Given the description of an element on the screen output the (x, y) to click on. 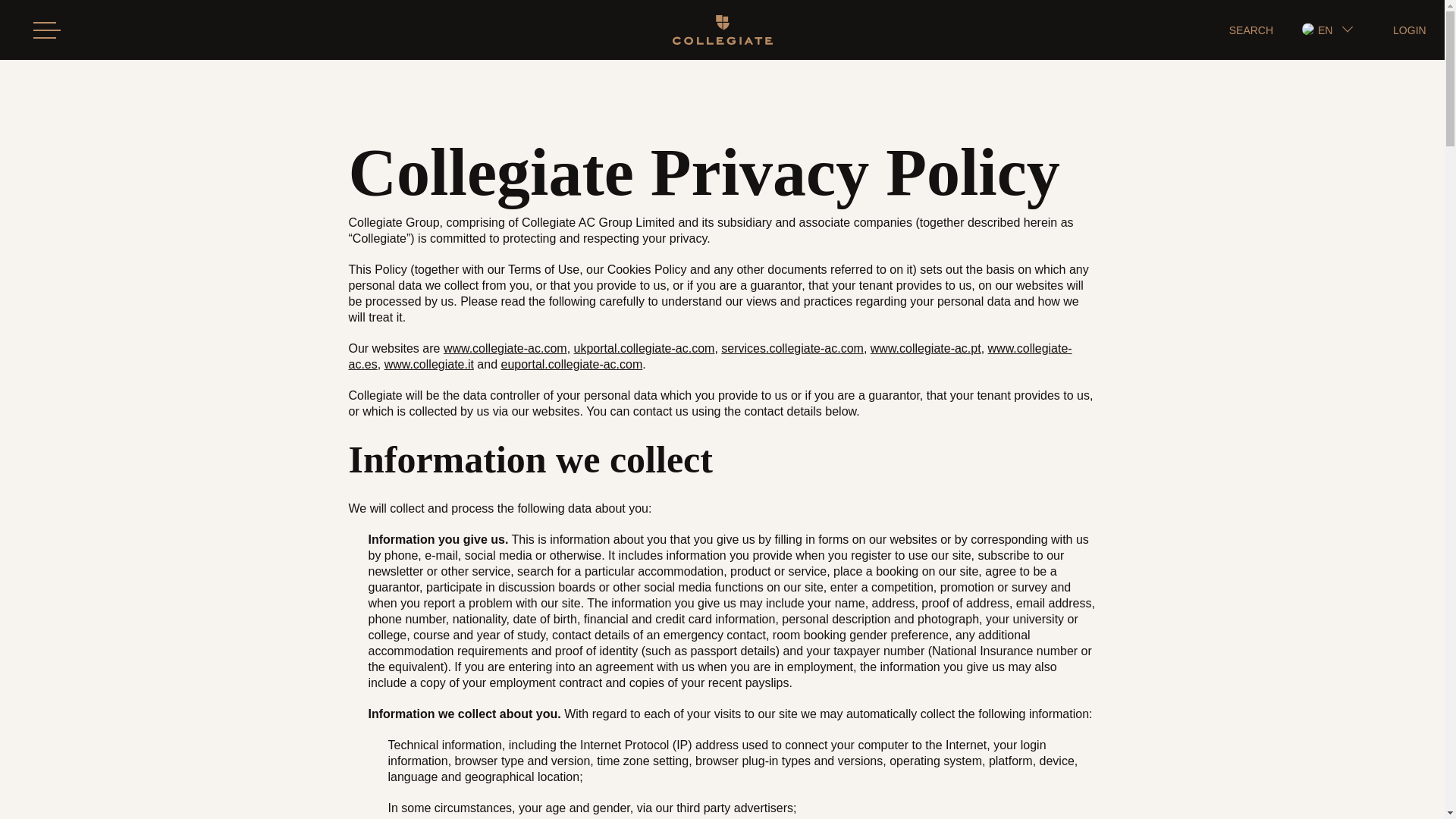
Homepage (721, 30)
Search (305, 89)
SEARCH (1250, 29)
LOGIN (1409, 29)
